Given the description of an element on the screen output the (x, y) to click on. 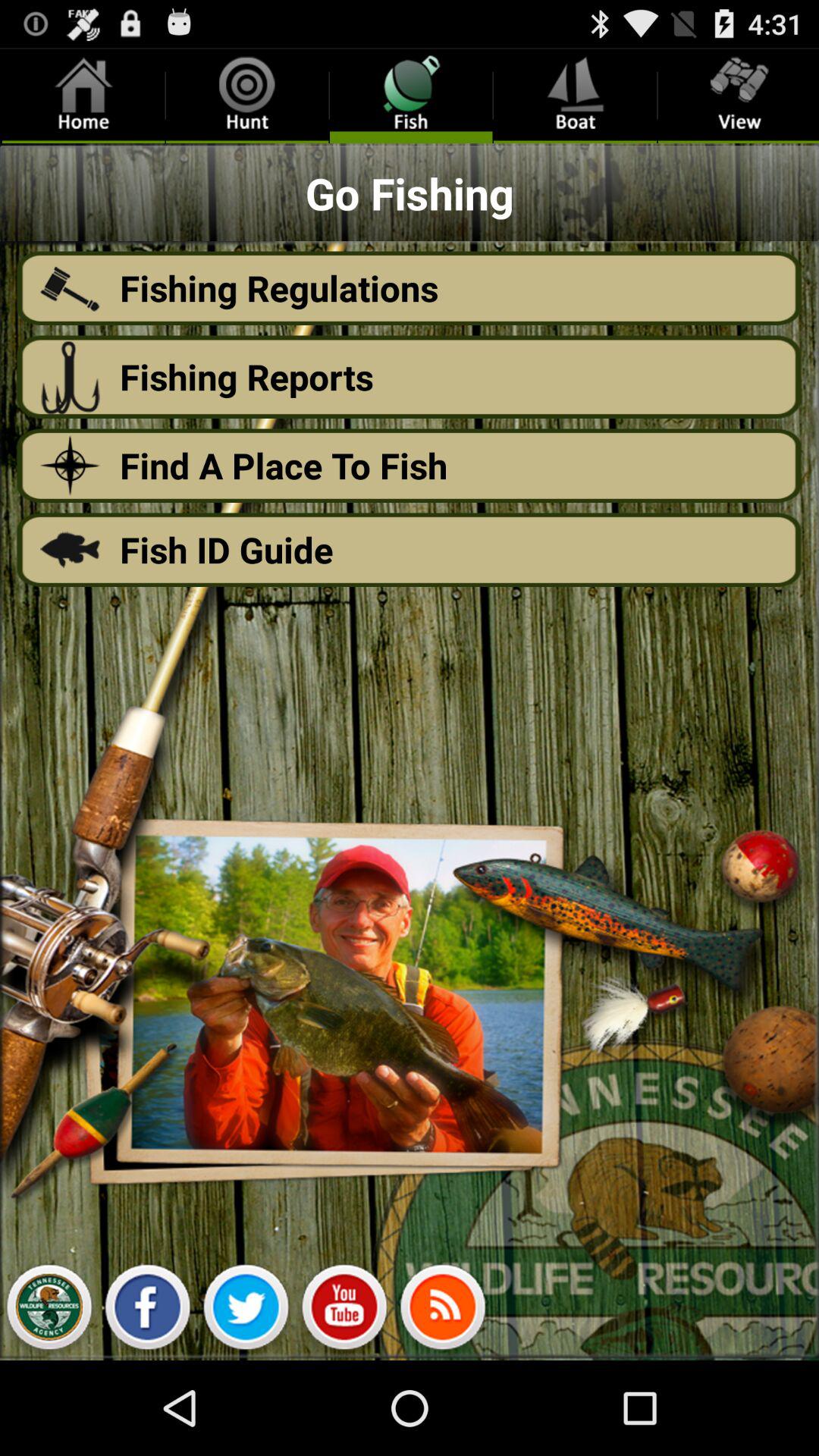
go to twitter (245, 1311)
